Given the description of an element on the screen output the (x, y) to click on. 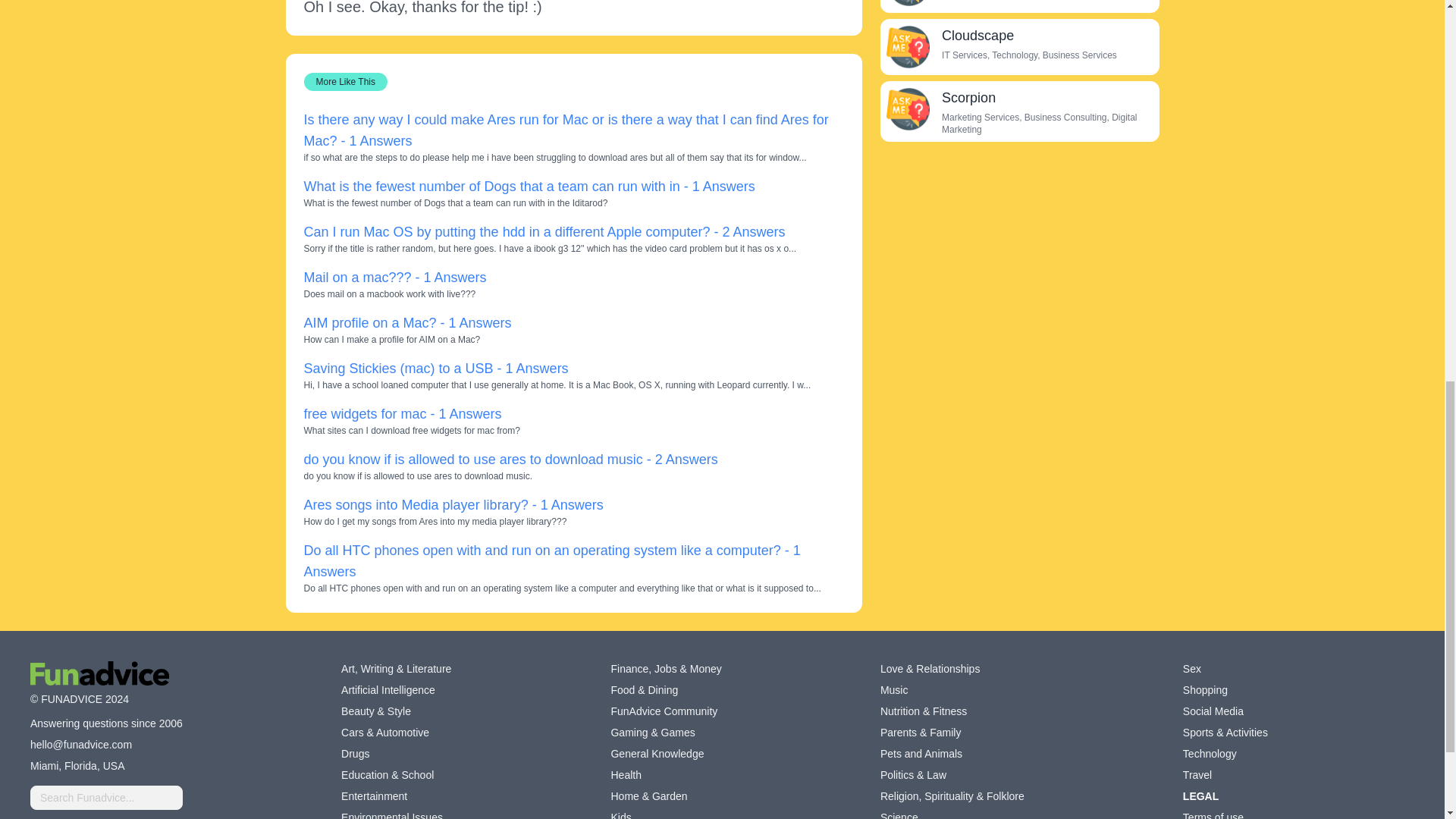
PC Revive (907, 3)
Scorpion (968, 97)
Ares songs into Media player library? - 1 Answers (452, 504)
Mail on a mac??? - 1 Answers (394, 277)
AIM profile on a Mac? - 1 Answers (406, 322)
Cloudscape (977, 35)
Cloudscape (907, 46)
free widgets for mac - 1 Answers (401, 413)
Drugs (354, 753)
Environmental Issues (391, 814)
Scorpion (907, 108)
